Given the description of an element on the screen output the (x, y) to click on. 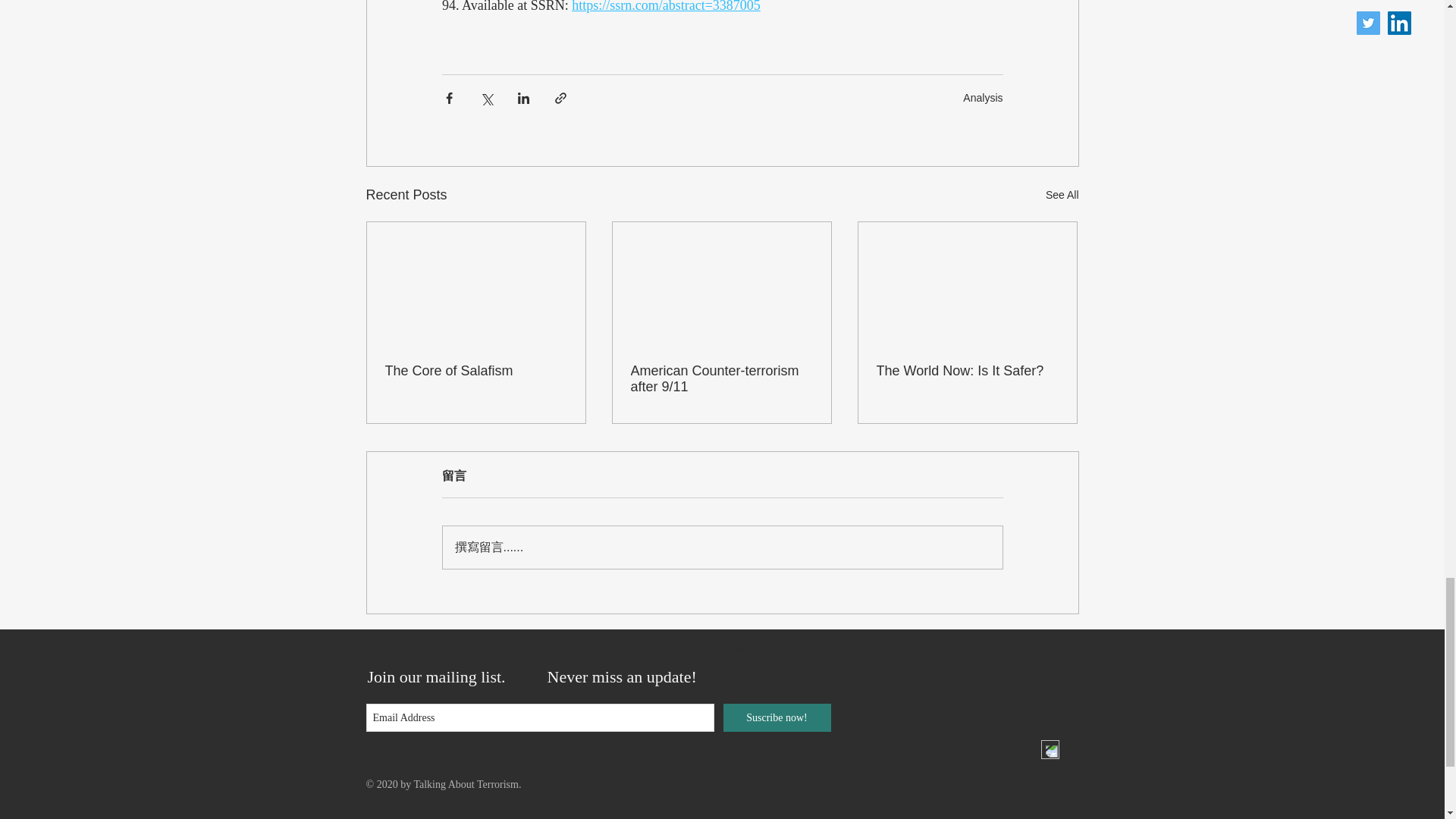
See All (1061, 195)
Suscribe now! (777, 717)
Analysis (982, 97)
The World Now: Is It Safer? (967, 371)
The Core of Salafism (476, 371)
Do Not Sell My Personal Information (681, 648)
